Given the description of an element on the screen output the (x, y) to click on. 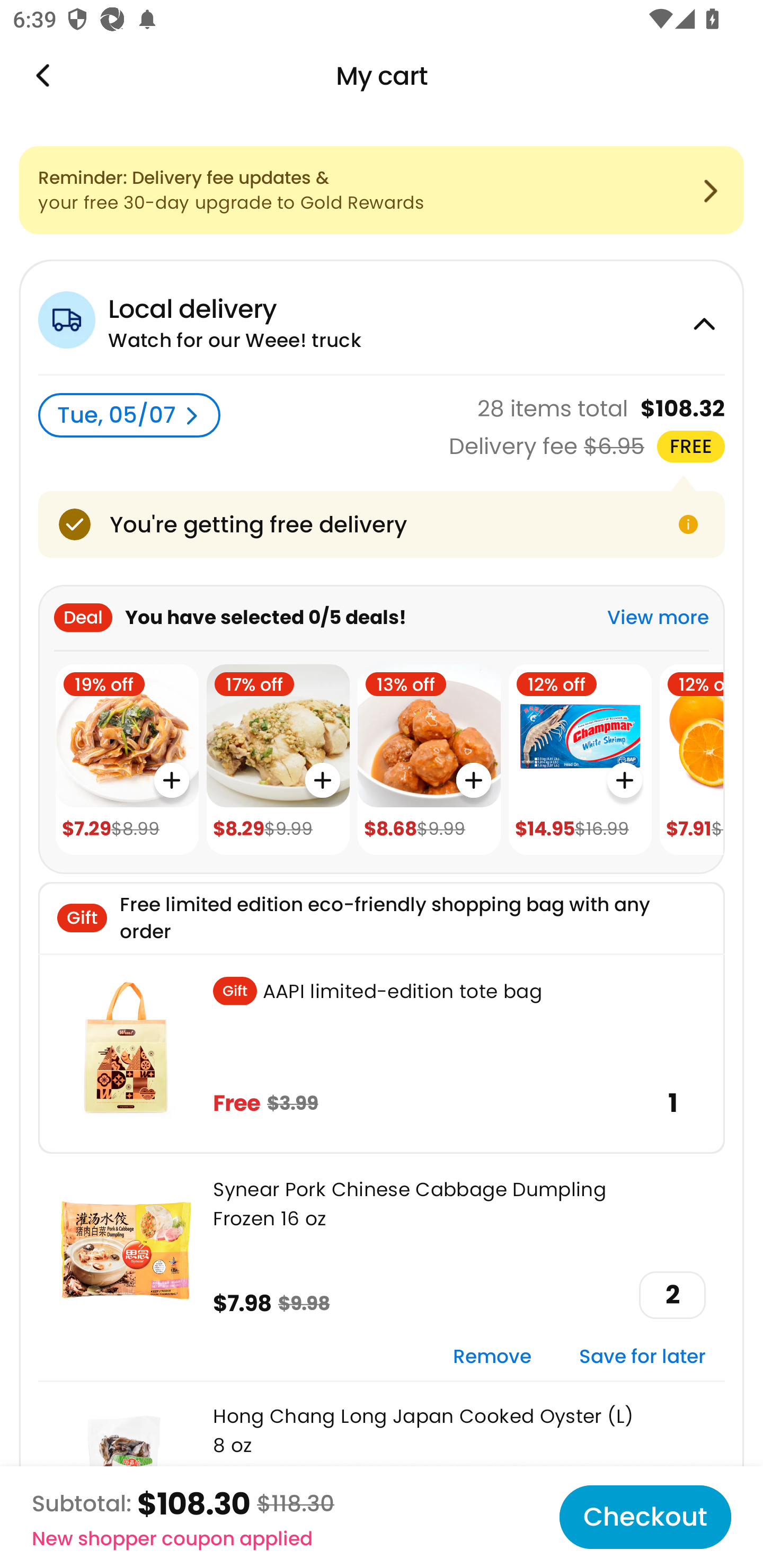
Local delivery Watch for our Weee! truck (381, 317)
Tue, 05/07 (129, 415)
You're getting free delivery (381, 524)
19% off $7.29 $8.99 (126, 759)
17% off $8.29 $9.99 (277, 759)
13% off $8.68 $9.99 (428, 759)
12% off $14.95 $16.99 (579, 759)
. AAPI limited-edition tote bag Free $3.99 1 (381, 1053)
2 (672, 1294)
Remove (491, 1356)
Save for later (642, 1356)
Checkout (644, 1516)
